Given the description of an element on the screen output the (x, y) to click on. 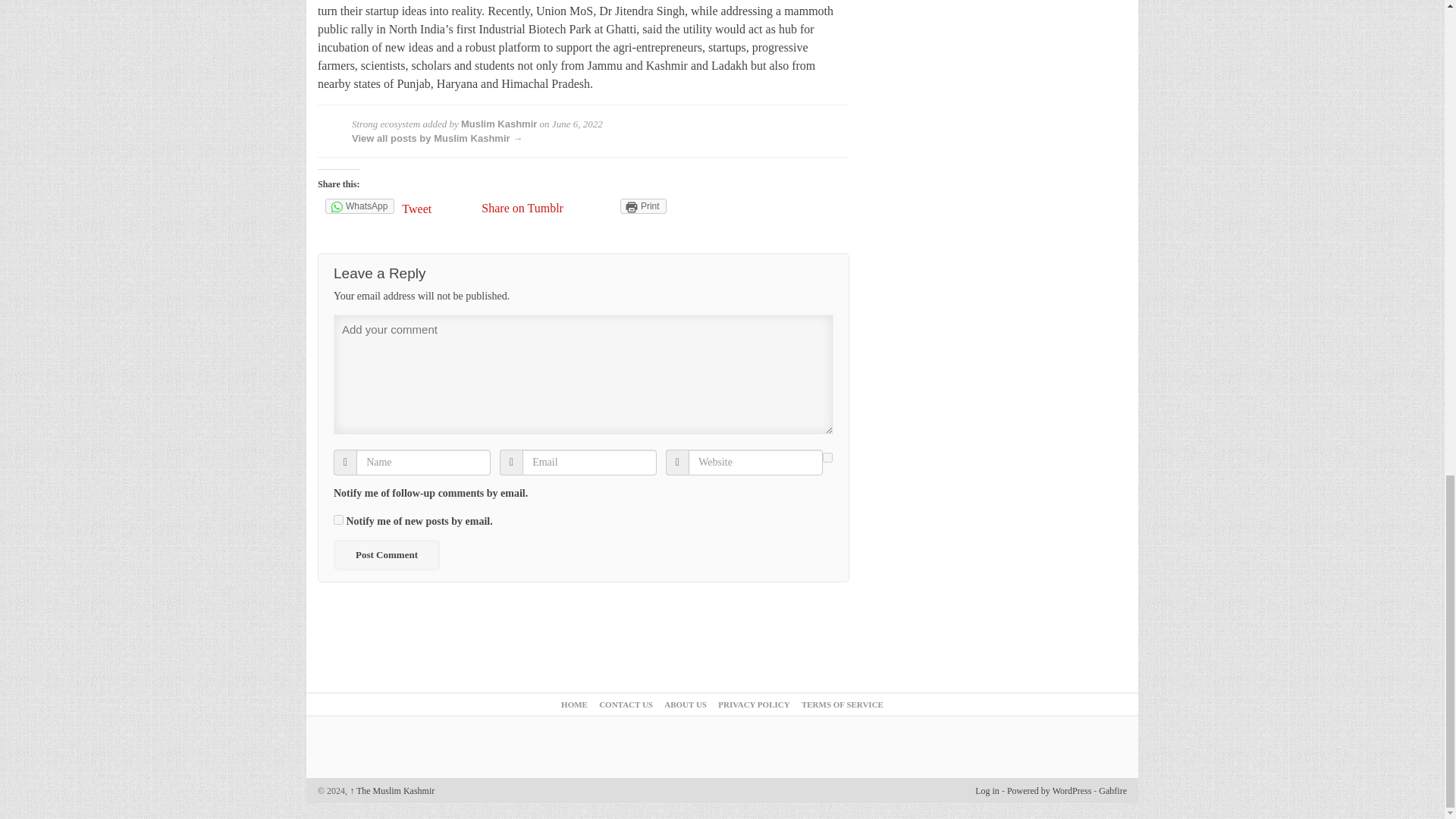
subscribe (338, 519)
WhatsApp (359, 206)
TERMS OF SERVICE (842, 704)
Share on Tumblr (522, 207)
CONTACT US (625, 704)
HOME (574, 704)
Advertisement (721, 650)
Muslim Kashmir (499, 123)
PRIVACY POLICY (753, 704)
Log in (986, 790)
Print (643, 206)
ABOUT US (684, 704)
Click to print (643, 206)
subscribe (827, 457)
Gabfire (1112, 790)
